Given the description of an element on the screen output the (x, y) to click on. 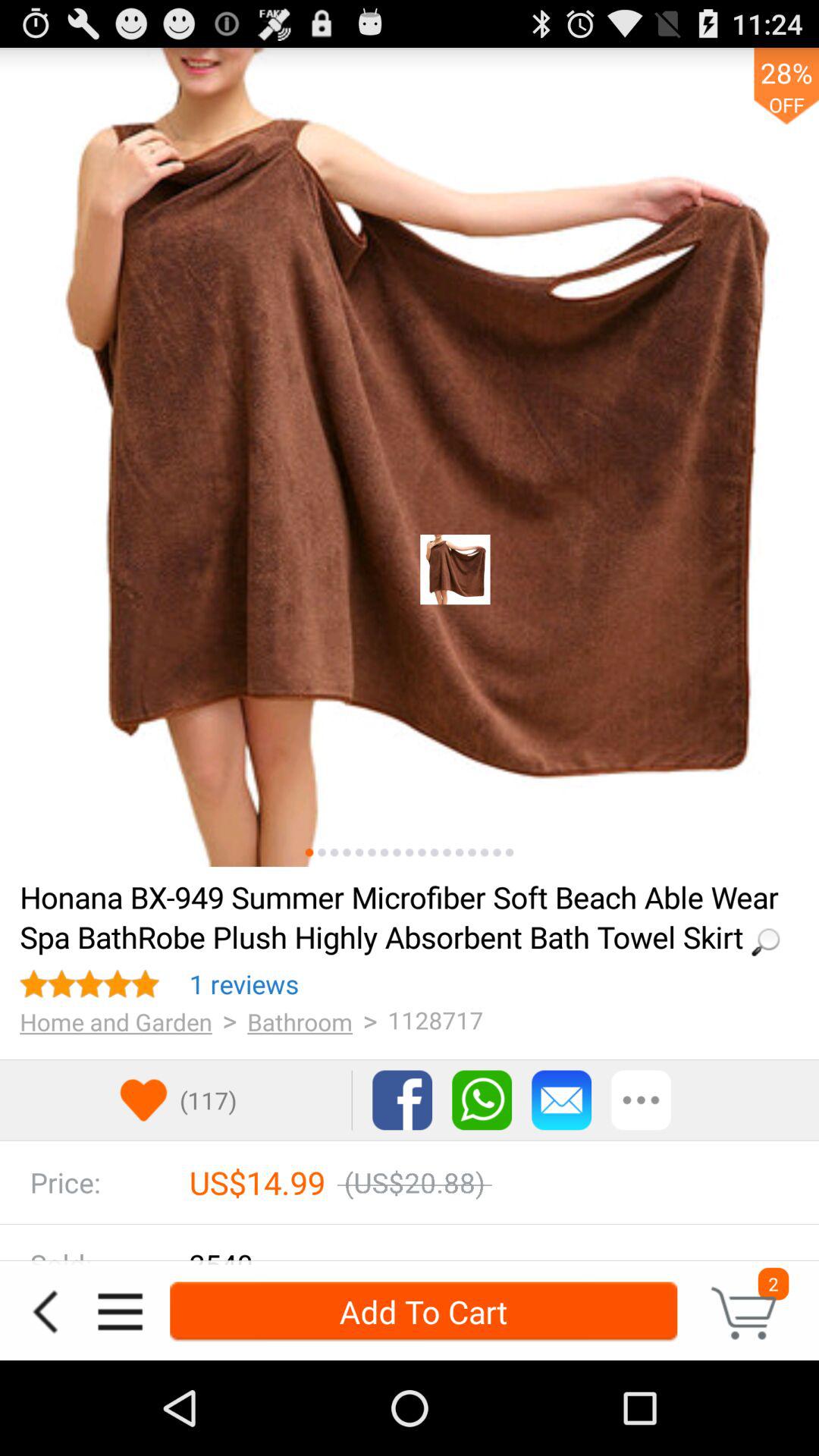
shows the second to last image in the set (497, 852)
